Given the description of an element on the screen output the (x, y) to click on. 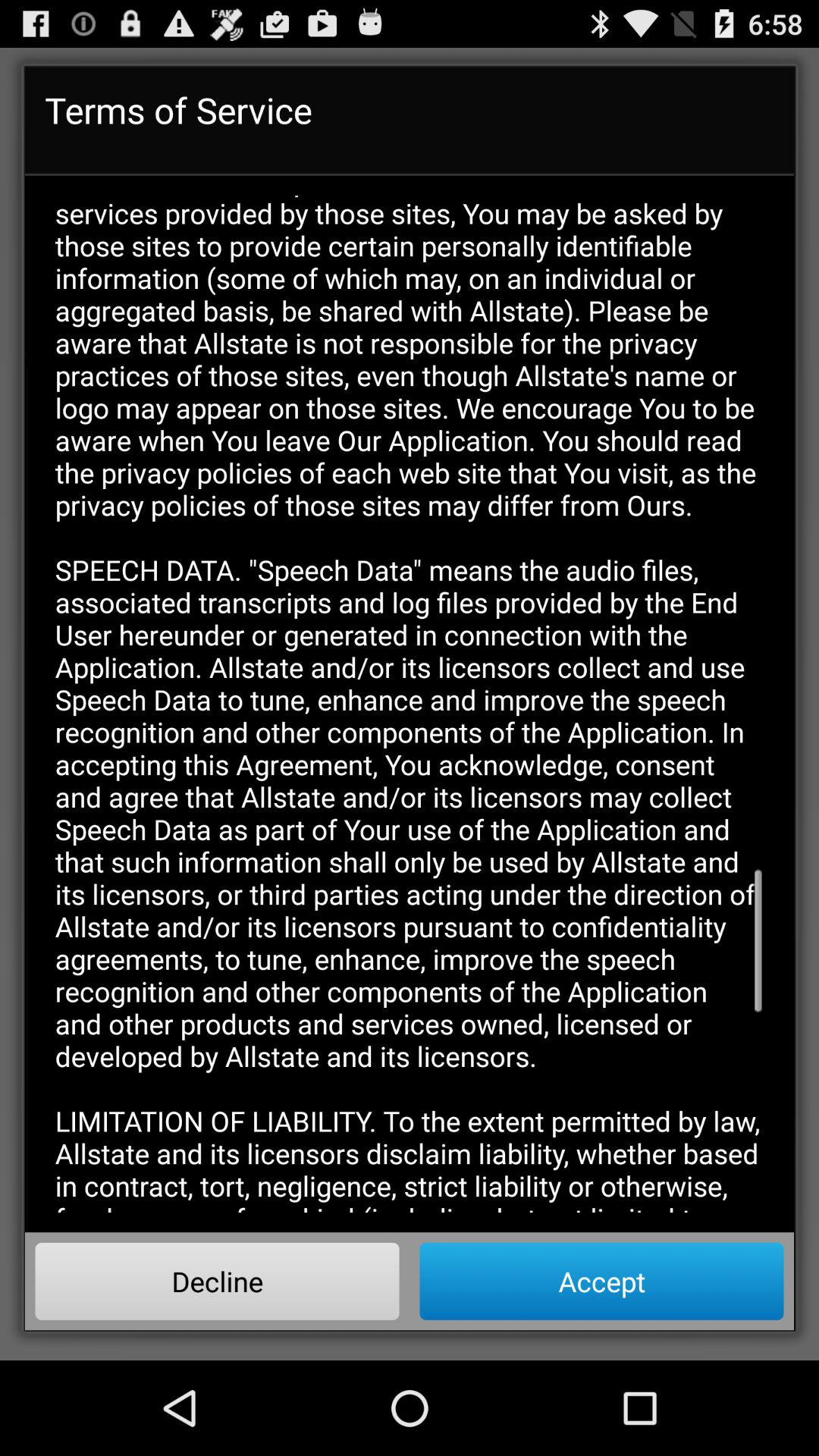
turn off the item next to the decline icon (601, 1281)
